Given the description of an element on the screen output the (x, y) to click on. 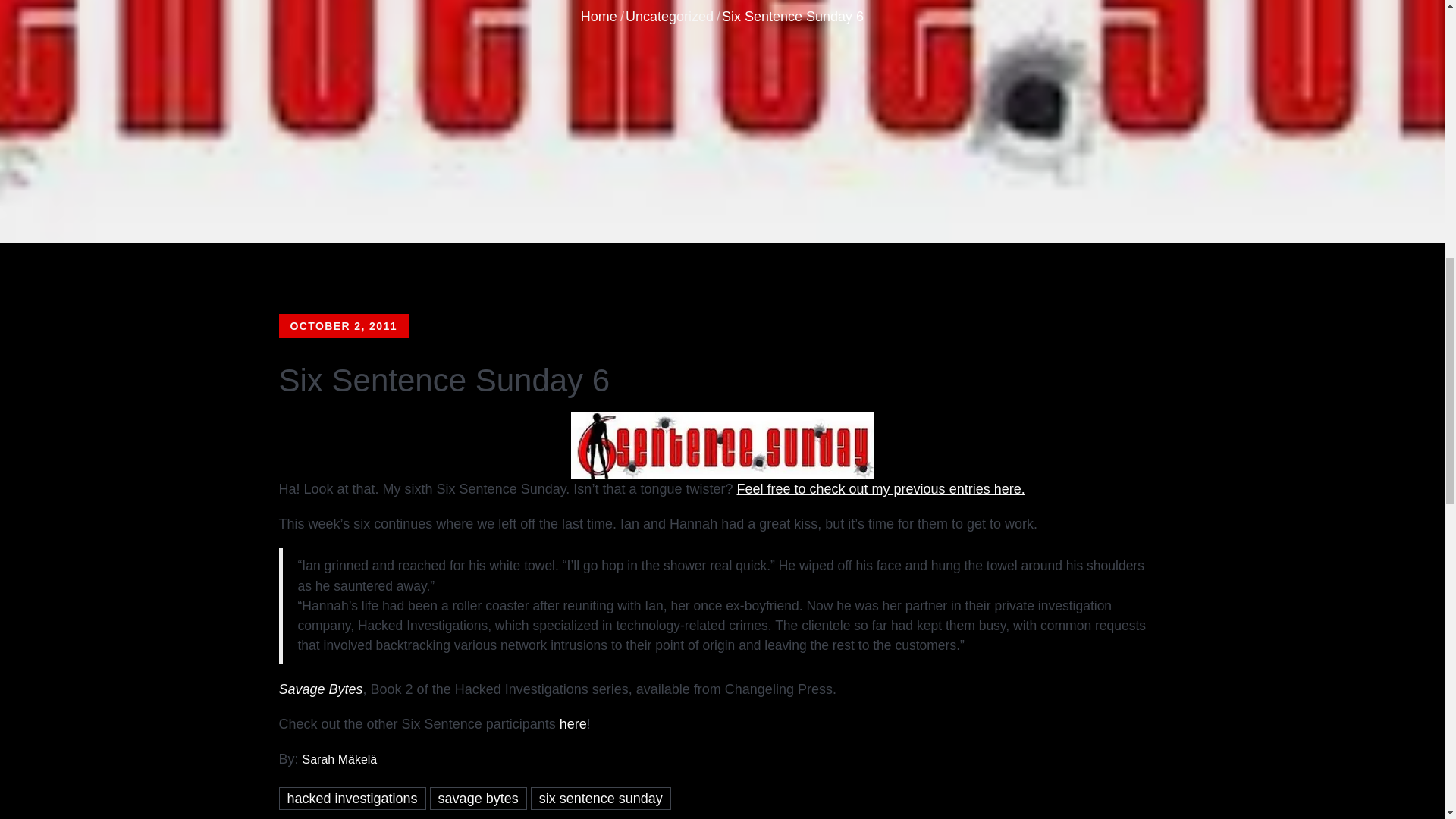
hacked investigations (352, 798)
OCTOBER 2, 2011 (344, 325)
Savage Bytes (320, 688)
savage bytes (478, 798)
Uncategorized (669, 16)
Home (598, 16)
Feel free to check out my previous entries here. (880, 488)
six sentence sunday (601, 798)
here (572, 724)
